Given the description of an element on the screen output the (x, y) to click on. 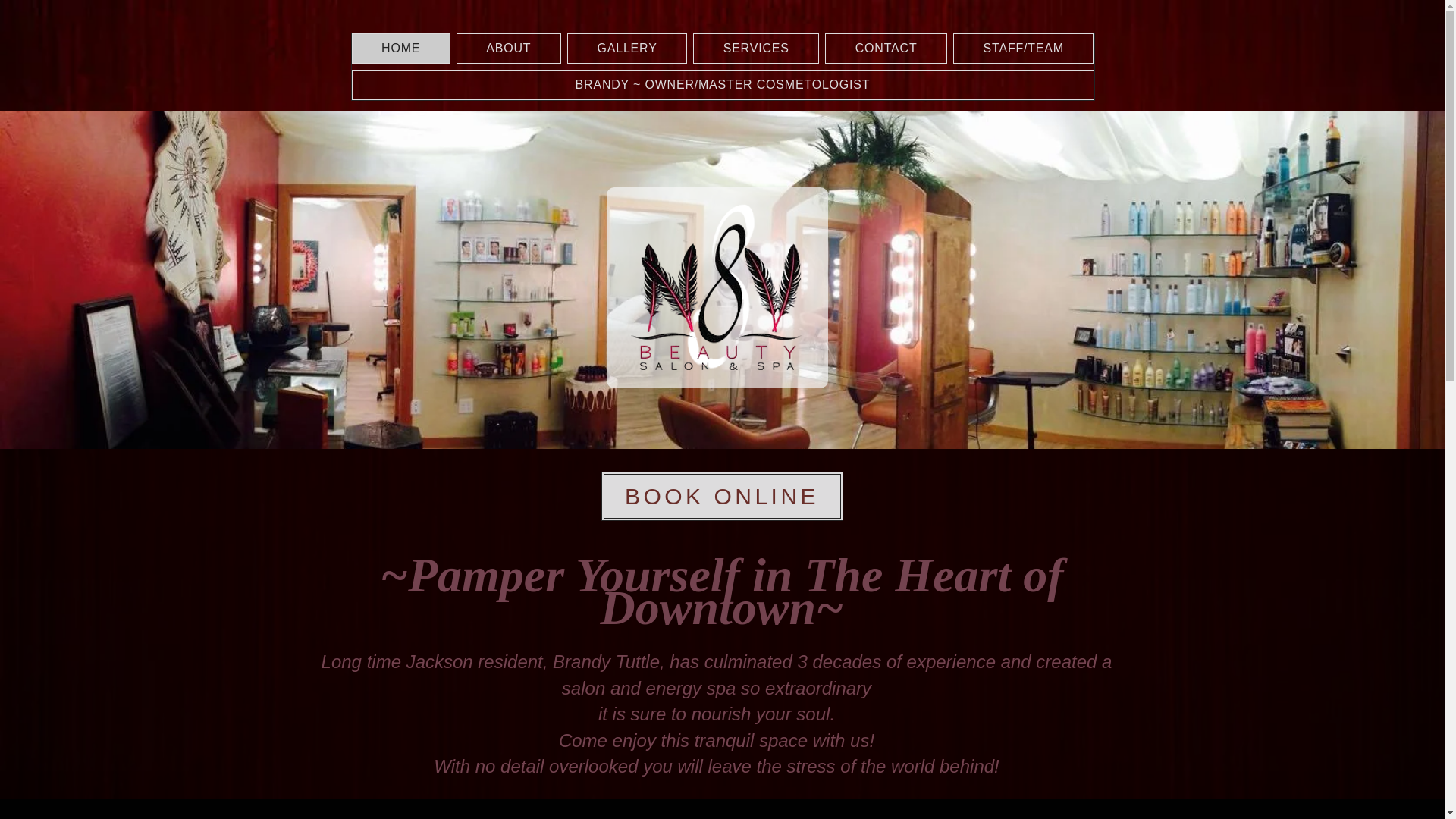
BOOK ONLINE (721, 495)
CONTACT (886, 48)
ABOUT (508, 48)
HOME (400, 48)
SERVICES (755, 48)
GALLERY (627, 48)
